Given the description of an element on the screen output the (x, y) to click on. 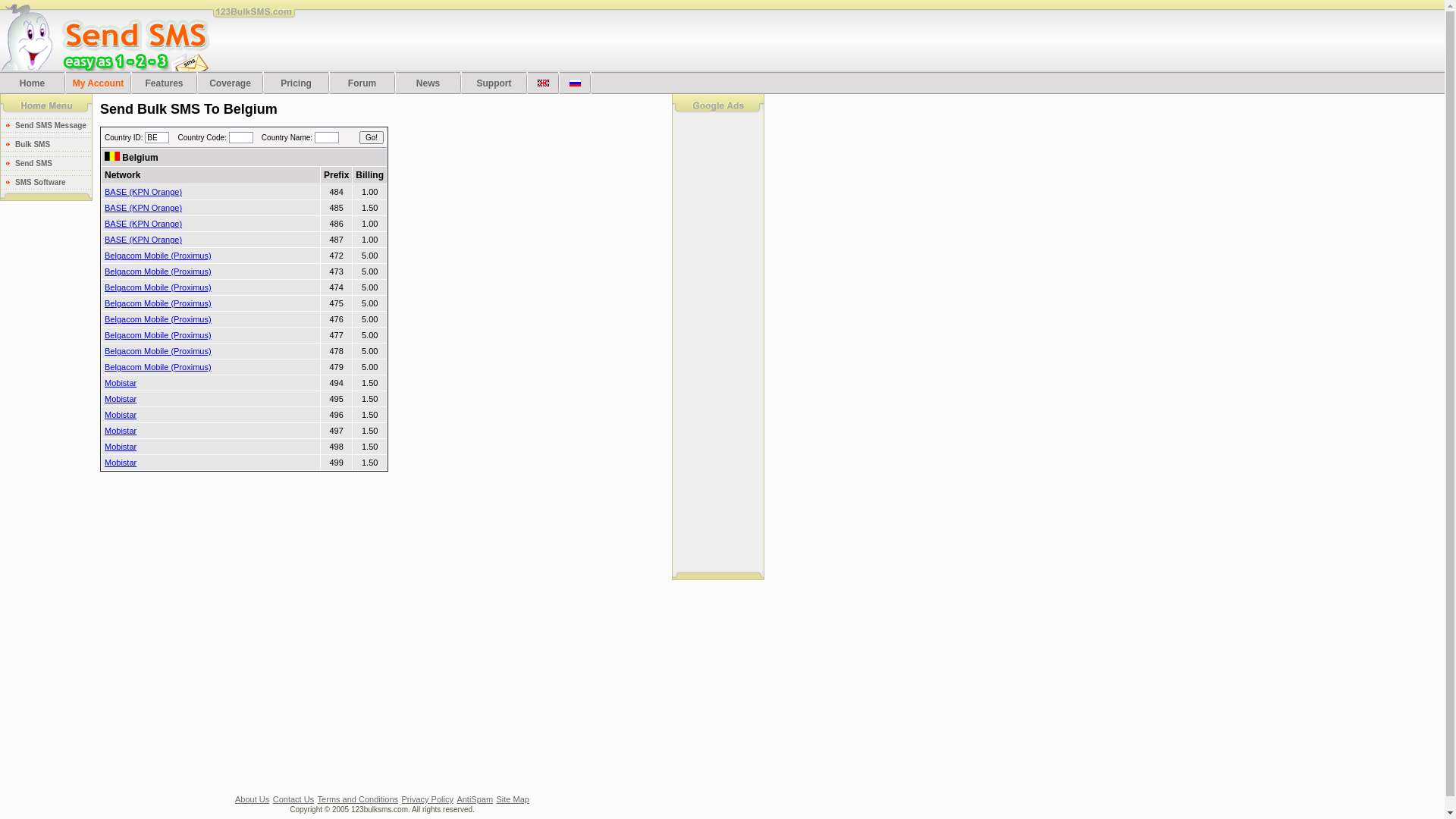
Support Element type: text (493, 82)
Web to SMS Element type: hover (4, 207)
Bulk SMS Element type: hover (46, 195)
Contact Us Element type: text (293, 798)
My Account Element type: text (98, 82)
Belgacom Mobile (Proximus) Element type: text (157, 255)
Home Element type: text (31, 82)
Mobistar Element type: text (120, 382)
Belgacom Mobile (Proximus) Element type: text (157, 318)
Mobistar Element type: text (120, 446)
Belgacom Mobile (Proximus) Element type: text (157, 271)
HTTP to SMS Element type: hover (5, 213)
Mobistar Element type: text (120, 398)
Belgacom Mobile (Proximus) Element type: text (157, 350)
AntiSpam Element type: text (474, 798)
SMS Solution Element type: hover (717, 105)
Terms and Conditions Element type: text (357, 798)
Site Map Element type: text (512, 798)
Coverage Element type: text (230, 82)
send sms Element type: hover (105, 36)
Belgacom Mobile (Proximus) Element type: text (157, 334)
Belgacom Mobile (Proximus) Element type: text (157, 366)
Desktop to SMS Element type: hover (4, 210)
English Element type: hover (542, 82)
Advertisement Element type: hover (584, 36)
BASE (KPN Orange) Element type: text (143, 239)
About Us Element type: text (252, 798)
SMS Element type: hover (46, 105)
bulk sms Element type: hover (254, 17)
Mobistar Element type: text (120, 414)
Advertisement Element type: hover (717, 343)
Mobistar Element type: text (120, 462)
BASE (KPN Orange) Element type: text (143, 223)
Mobistar Element type: text (120, 430)
Belgacom Mobile (Proximus) Element type: text (157, 286)
BASE (KPN Orange) Element type: text (143, 207)
Features Element type: text (163, 82)
International SMS Coverage Element type: hover (111, 155)
Belgacom Mobile (Proximus) Element type: text (157, 302)
Pricing Element type: text (295, 82)
Email to SMS Element type: hover (717, 575)
SMS Gateway Element type: hover (5, 215)
Go! Element type: text (371, 137)
Forum Element type: text (362, 82)
Send SMS Element type: hover (4, 202)
Privacy Policy Element type: text (426, 798)
News Element type: text (427, 82)
BASE (KPN Orange) Element type: text (143, 191)
